Given the description of an element on the screen output the (x, y) to click on. 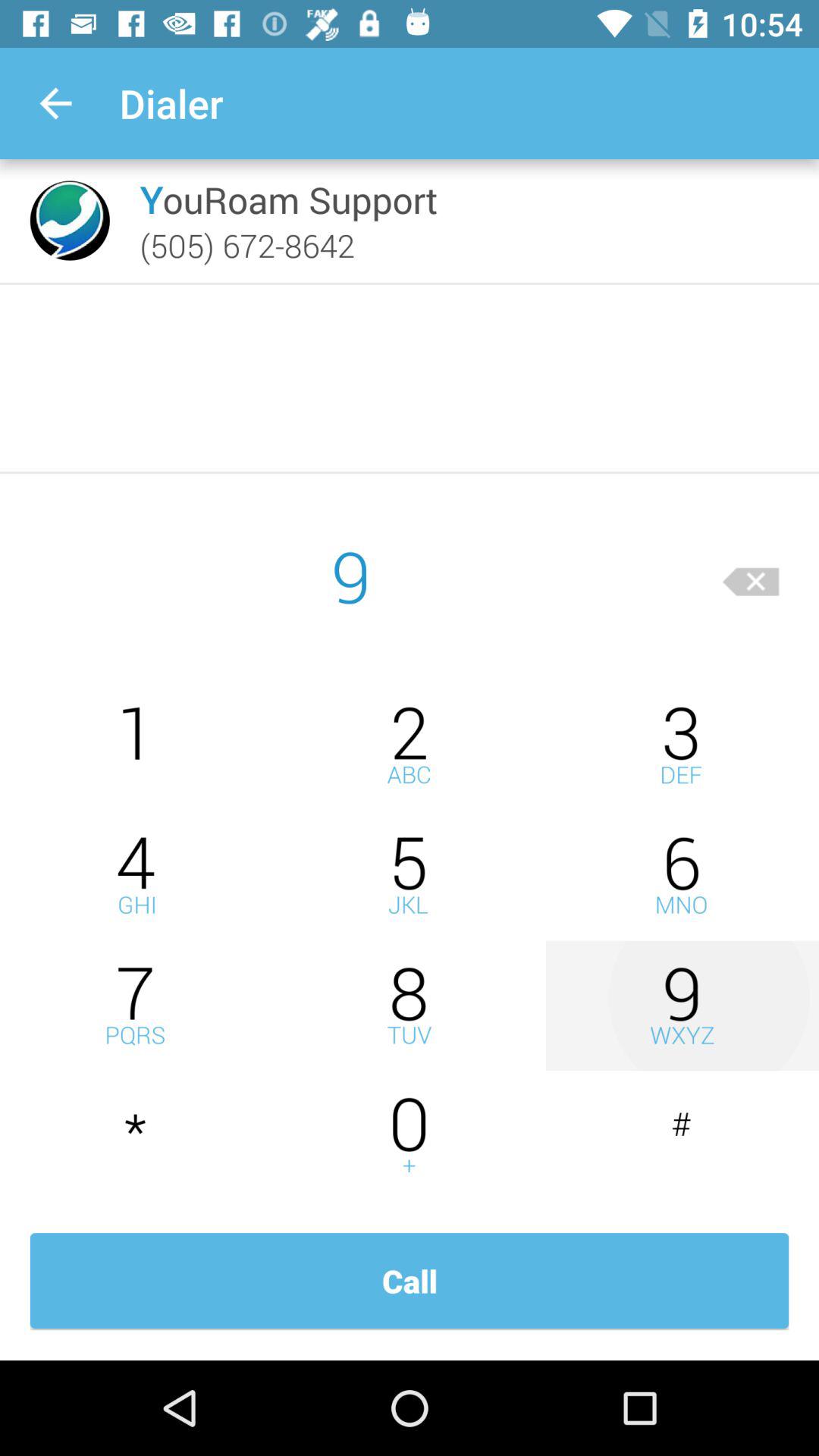
open the icon next to dialer item (55, 103)
